Given the description of an element on the screen output the (x, y) to click on. 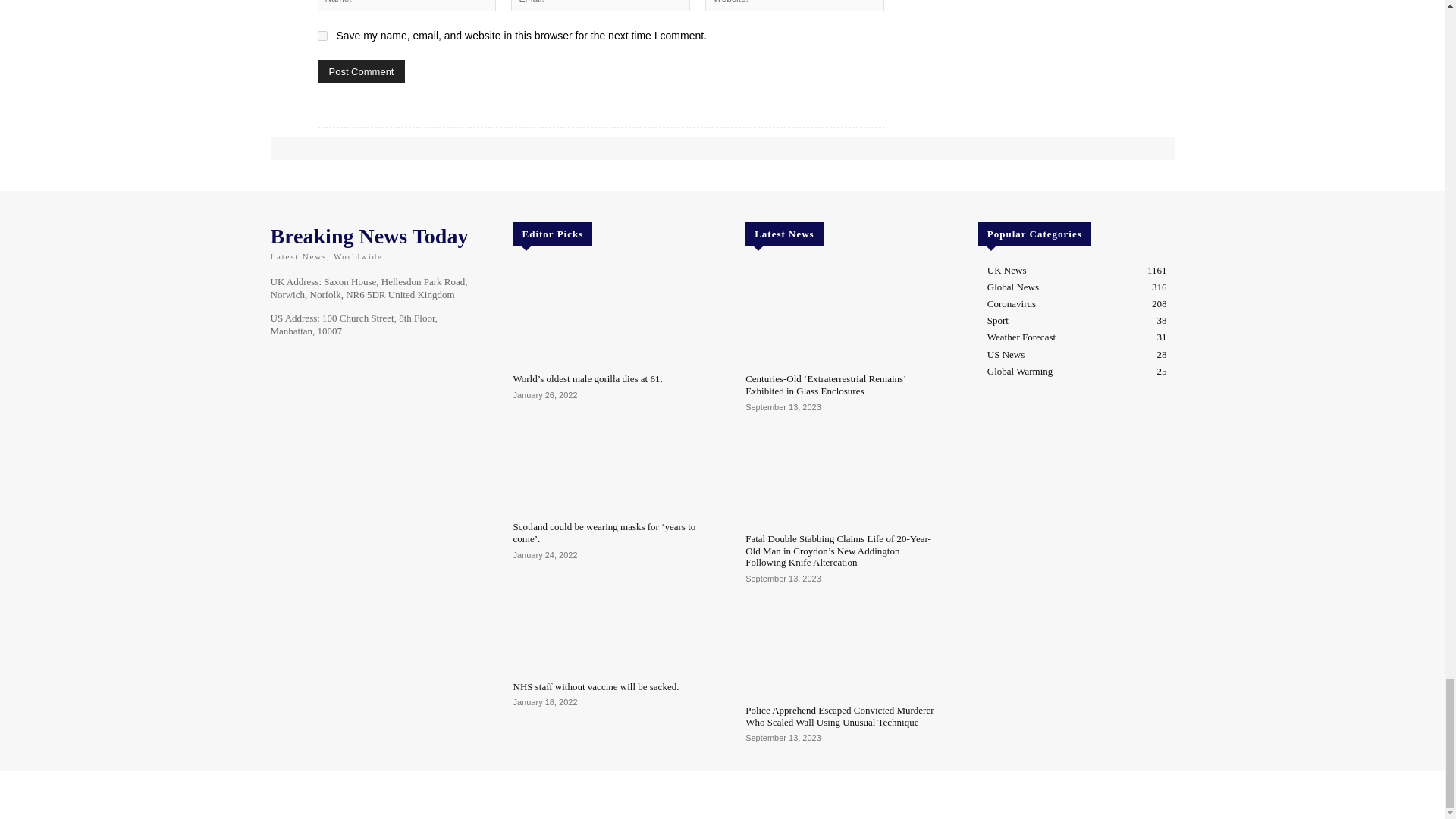
yes (321, 35)
Post Comment (360, 71)
